Given the description of an element on the screen output the (x, y) to click on. 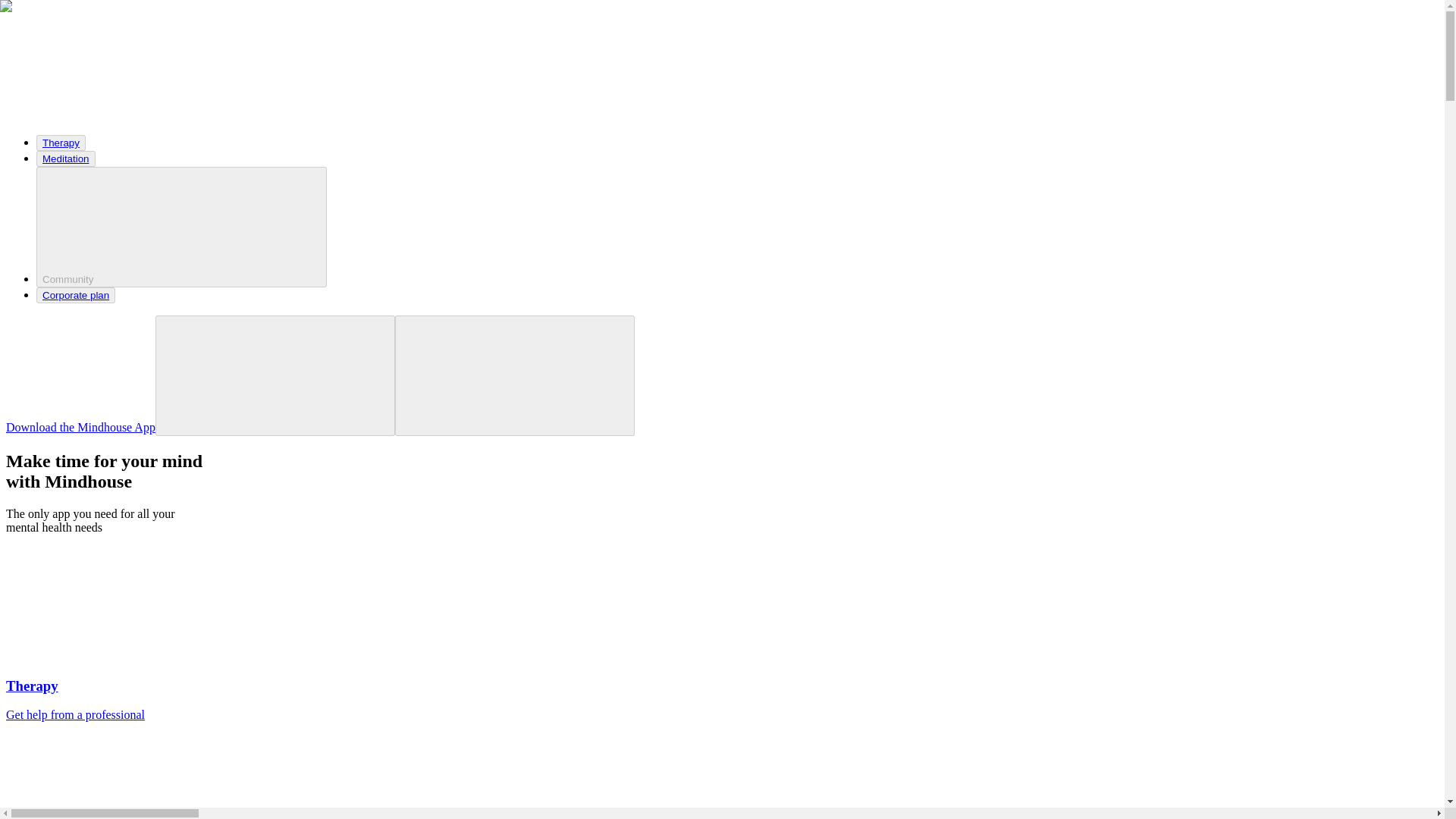
Download the Mindhouse App (80, 427)
Therapy (61, 142)
Meditation (66, 158)
Corporate plan (75, 295)
Therapy (60, 142)
Community (181, 227)
Meditation (65, 158)
